Given the description of an element on the screen output the (x, y) to click on. 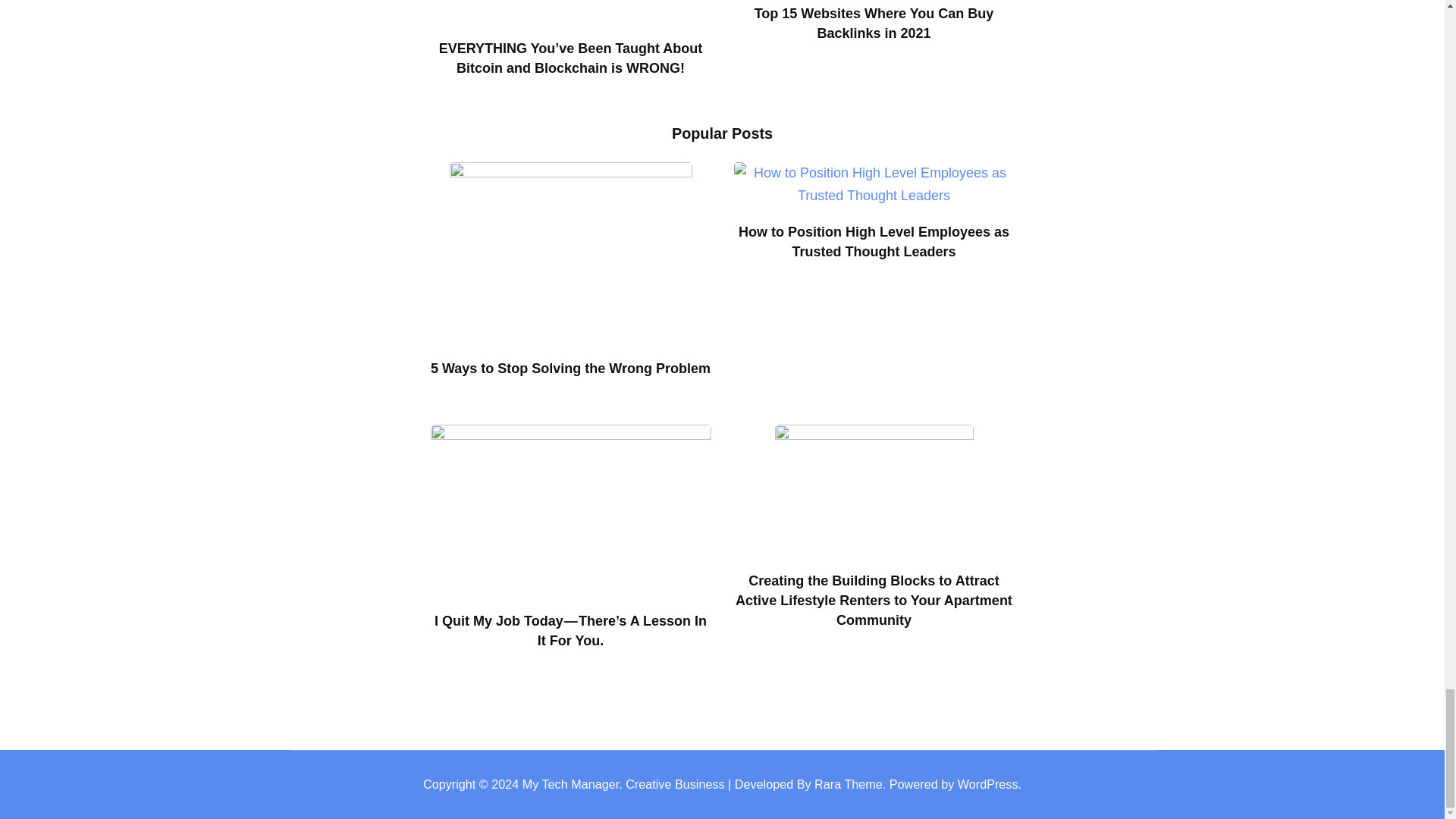
Top 15 Websites Where You Can Buy Backlinks in 2021 (874, 22)
5 Ways to Stop Solving the Wrong Problem (570, 368)
